Given the description of an element on the screen output the (x, y) to click on. 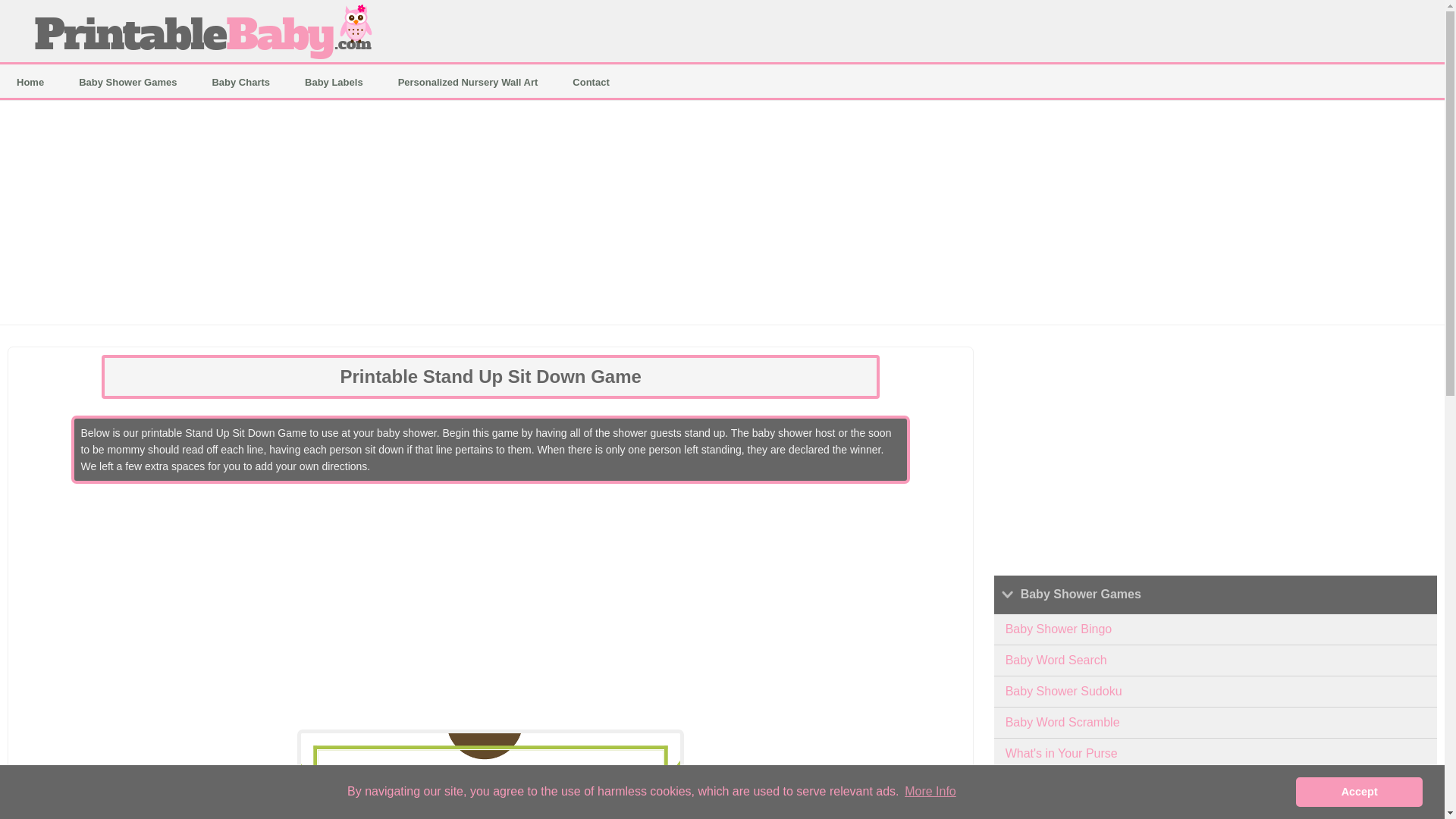
More Info (930, 791)
Personalized Nursery Wall Art (467, 82)
Baby Animal Names (1215, 809)
Baby Shower Bingo (1215, 629)
Baby Word Search (1215, 660)
Baby Charts (240, 82)
Baby Labels (334, 82)
Advertisement (1215, 452)
Baby Word Scramble (1215, 722)
Accept (1358, 791)
Baby Shower Games (127, 82)
Contact (591, 82)
What's in Your Purse (1215, 753)
Price is Right (1215, 784)
